Given the description of an element on the screen output the (x, y) to click on. 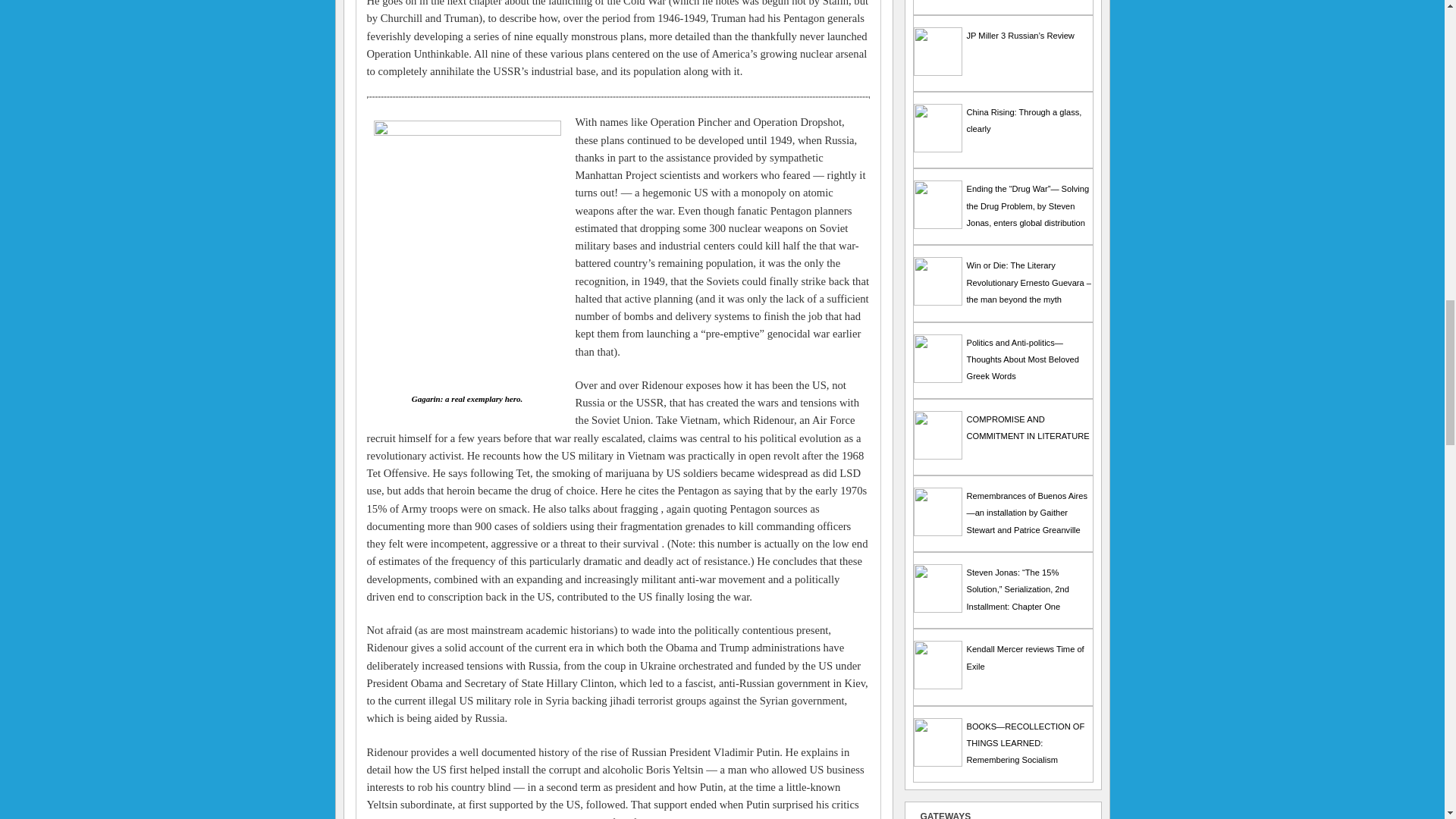
China Rising: Through a glass, clearly (1023, 120)
China Rising: Through a glass, clearly (936, 148)
